Given the description of an element on the screen output the (x, y) to click on. 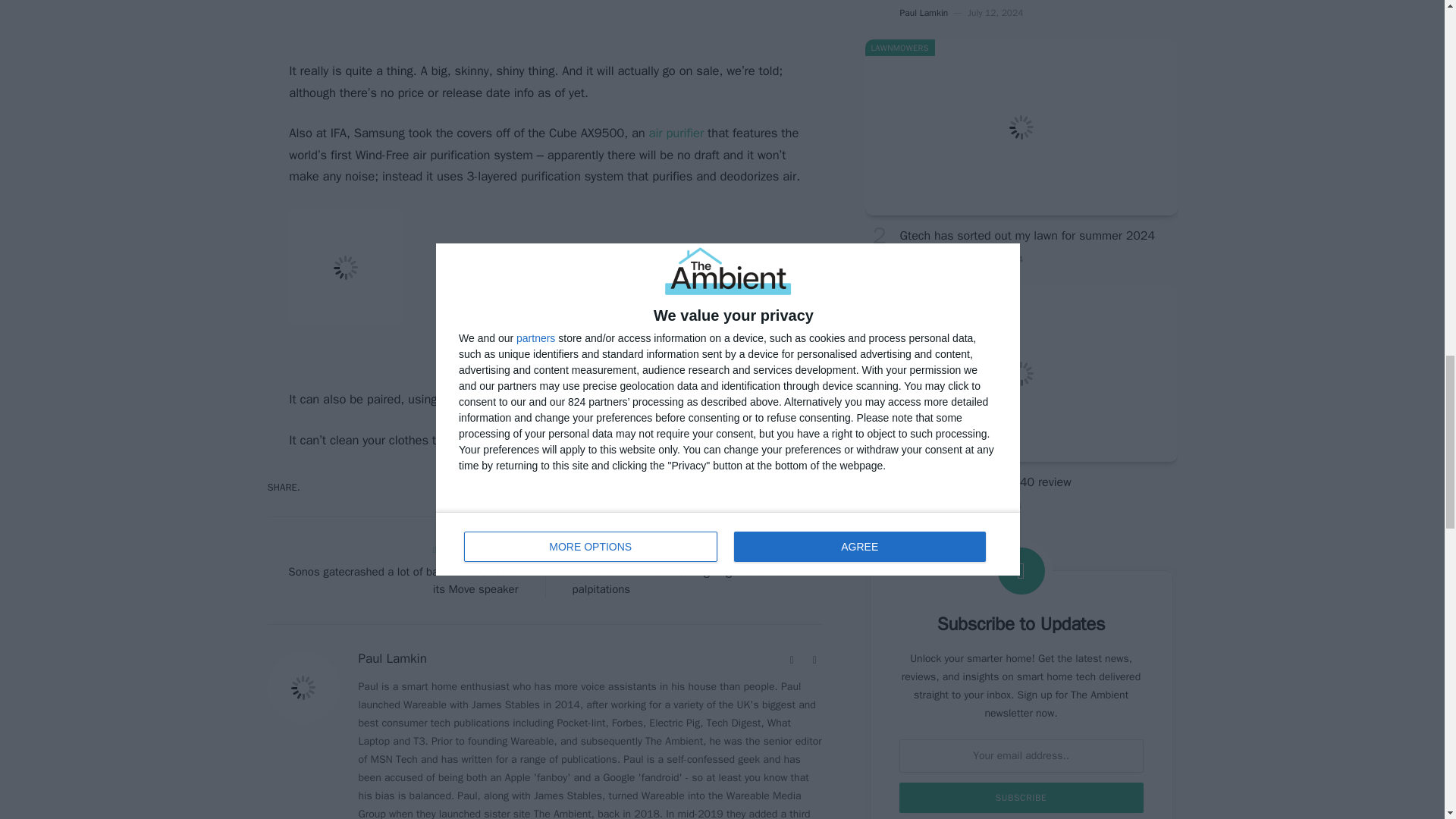
Subscribe (1020, 797)
